Given the description of an element on the screen output the (x, y) to click on. 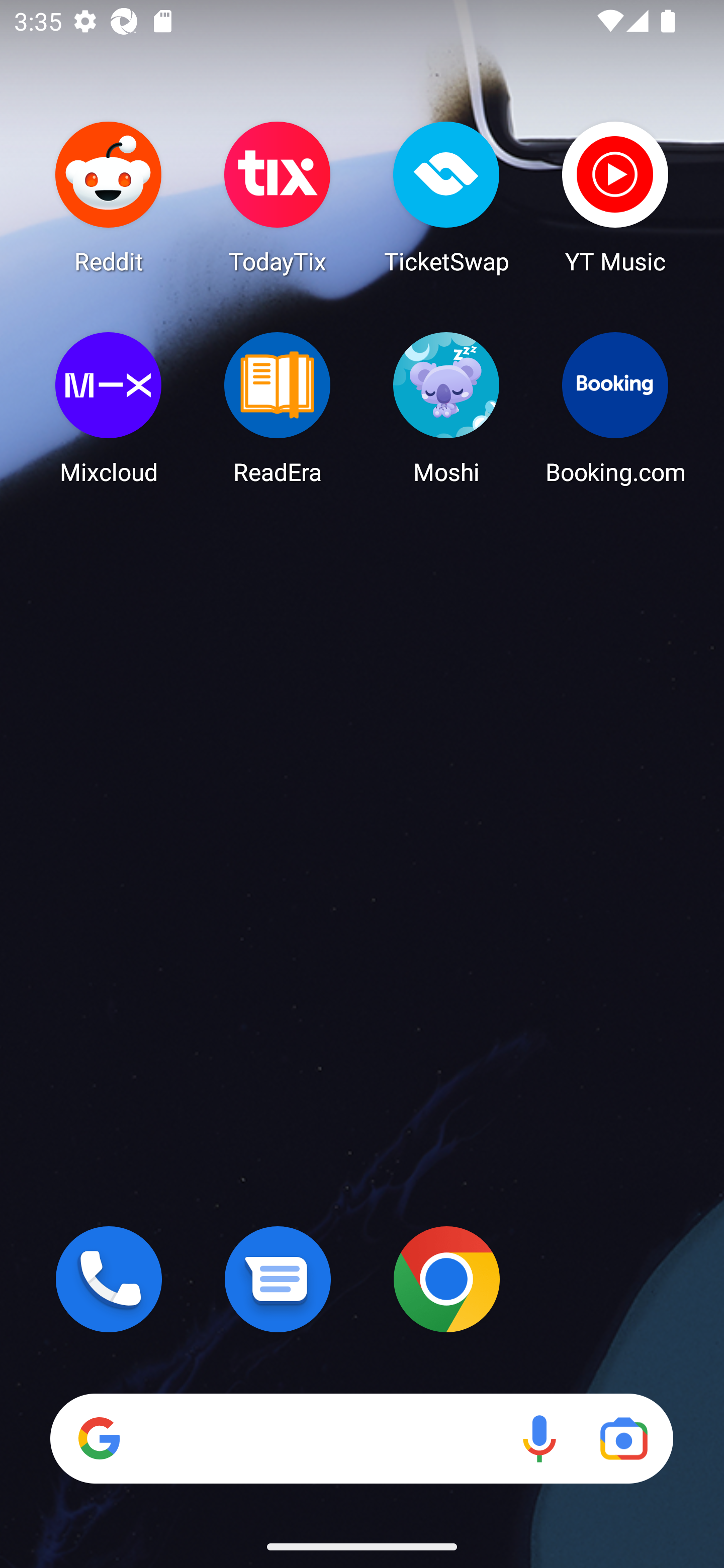
Reddit (108, 196)
TodayTix (277, 196)
TicketSwap (445, 196)
YT Music (615, 196)
Mixcloud (108, 407)
ReadEra (277, 407)
Moshi (445, 407)
Booking.com (615, 407)
Phone (108, 1279)
Messages (277, 1279)
Chrome (446, 1279)
Search Voice search Google Lens (361, 1438)
Voice search (539, 1438)
Google Lens (623, 1438)
